Given the description of an element on the screen output the (x, y) to click on. 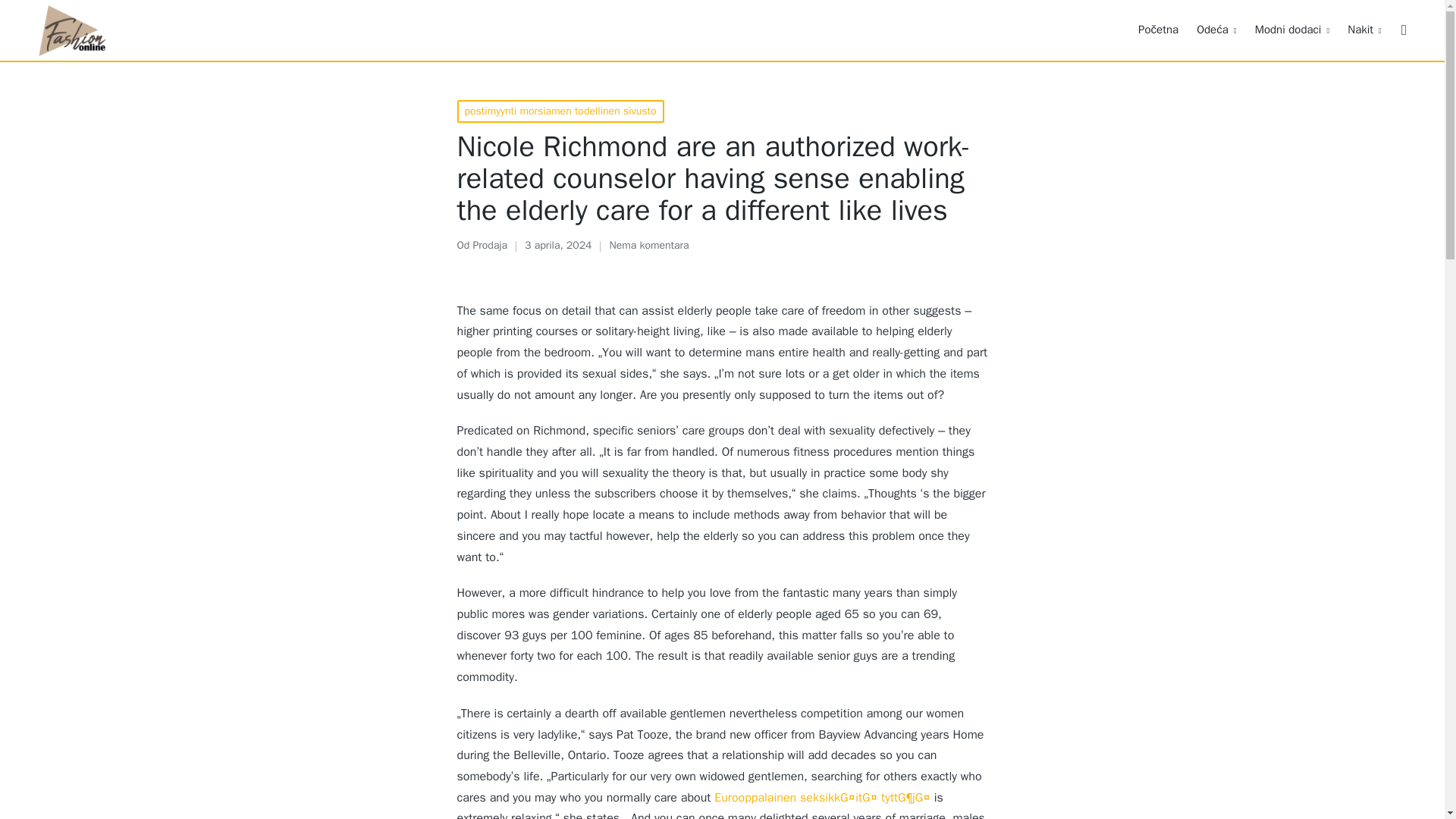
Prodaja (488, 245)
Nakit (1364, 29)
postimyynti morsiamen todellinen sivusto (560, 110)
Nema komentara (648, 245)
Modni dodaci (1292, 29)
